Given the description of an element on the screen output the (x, y) to click on. 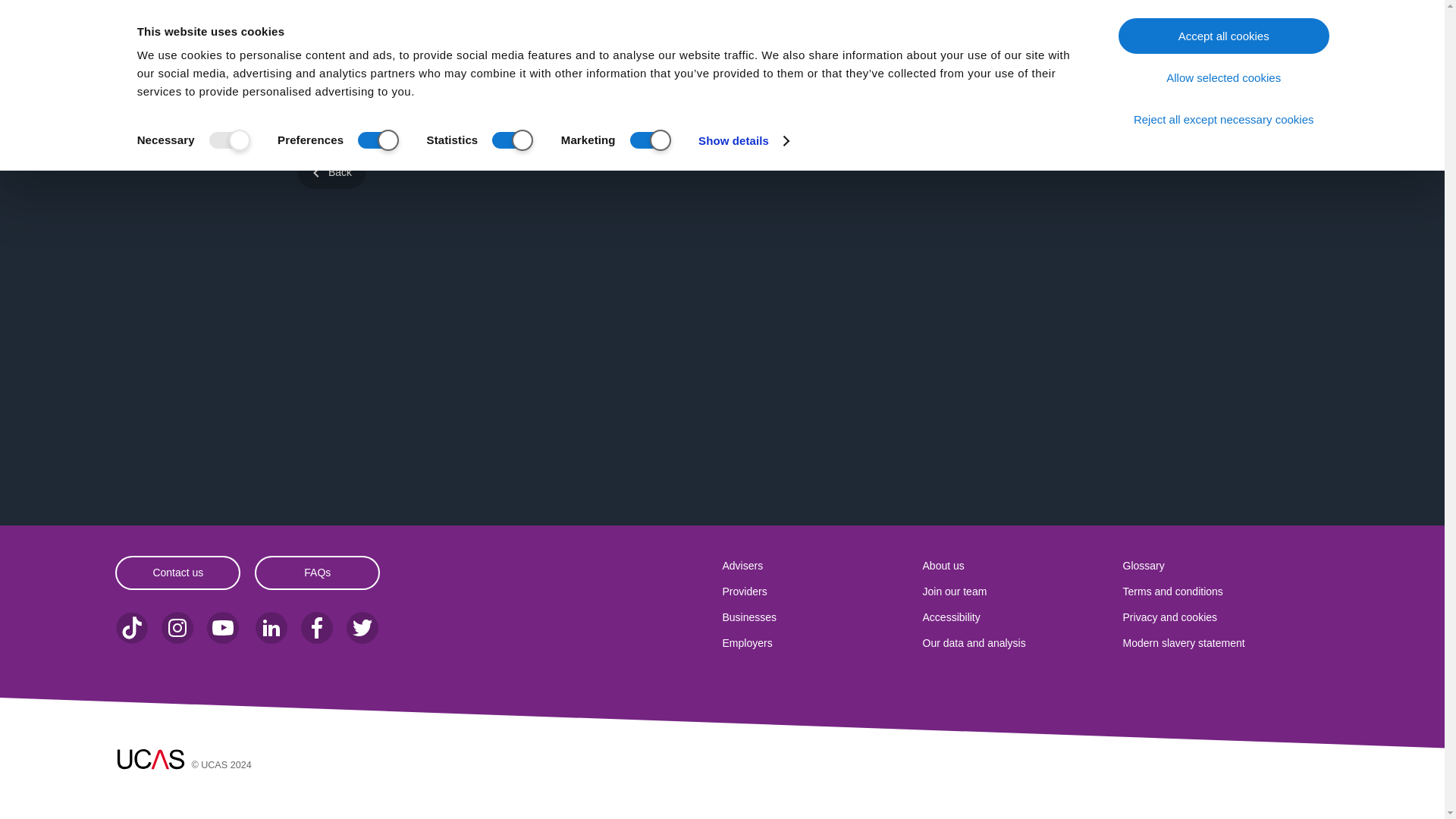
Show details (742, 140)
